Given the description of an element on the screen output the (x, y) to click on. 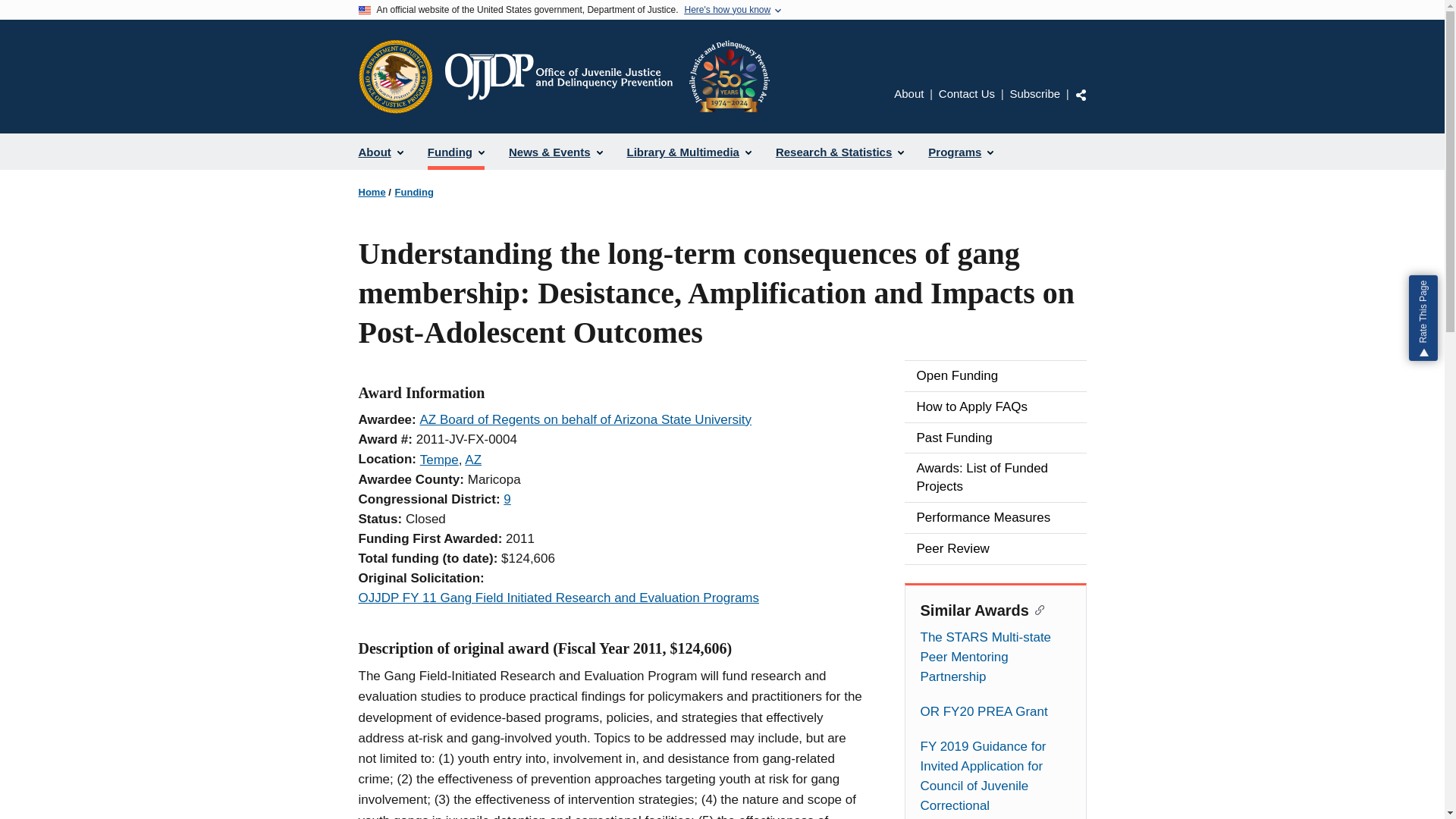
The STARS Multi-state Peer Mentoring Partnership (995, 657)
Open Funding (995, 376)
How to Apply FAQs (995, 407)
Copy link to section: Similar Awards (1037, 608)
Office of Justice Programs (395, 76)
Tempe (439, 459)
Funding (455, 151)
Here's how you know (727, 9)
Programs (960, 151)
OR FY20 PREA Grant (995, 711)
About (380, 151)
Home (371, 192)
